Given the description of an element on the screen output the (x, y) to click on. 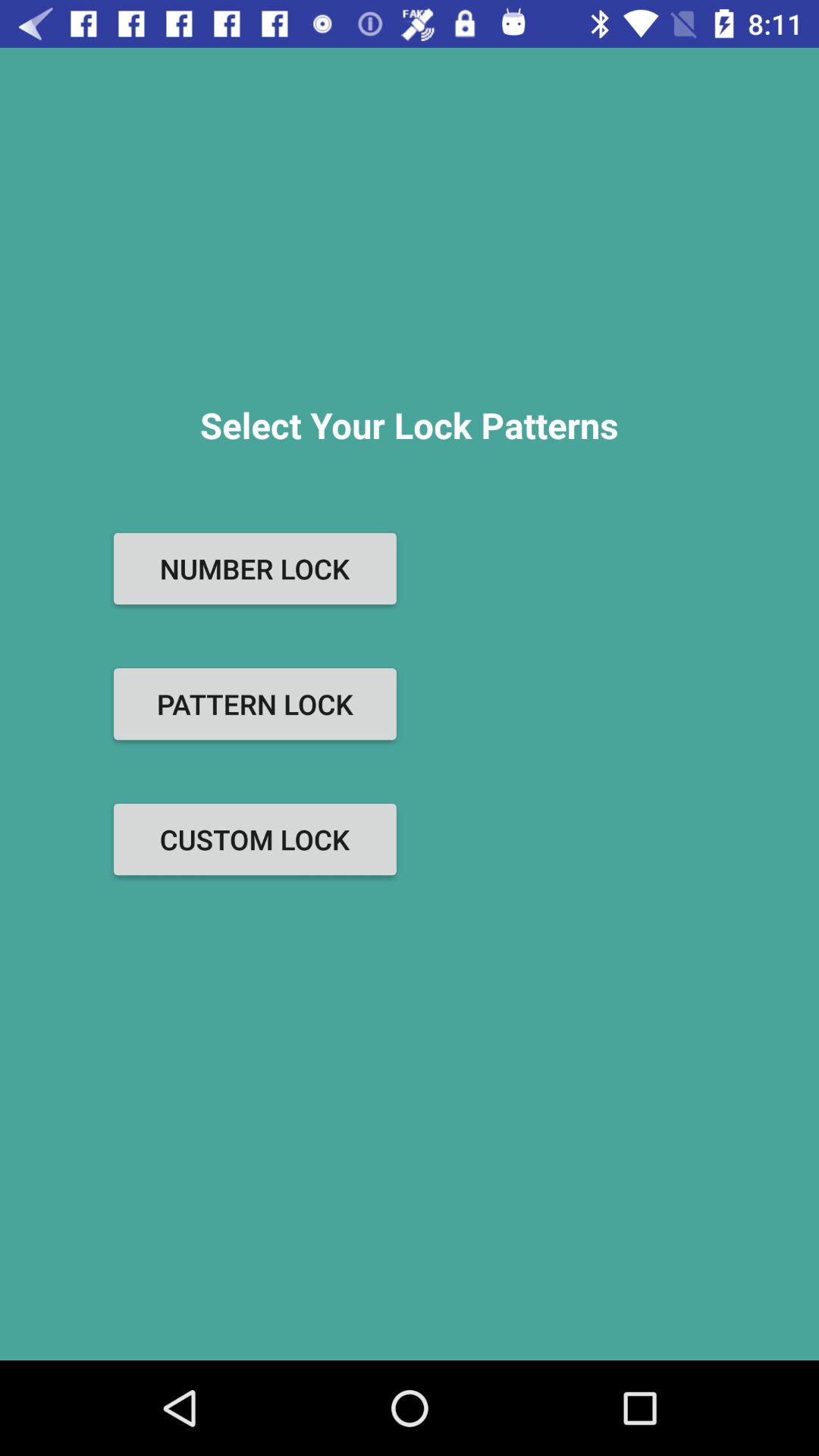
scroll to the number lock button (254, 568)
